Given the description of an element on the screen output the (x, y) to click on. 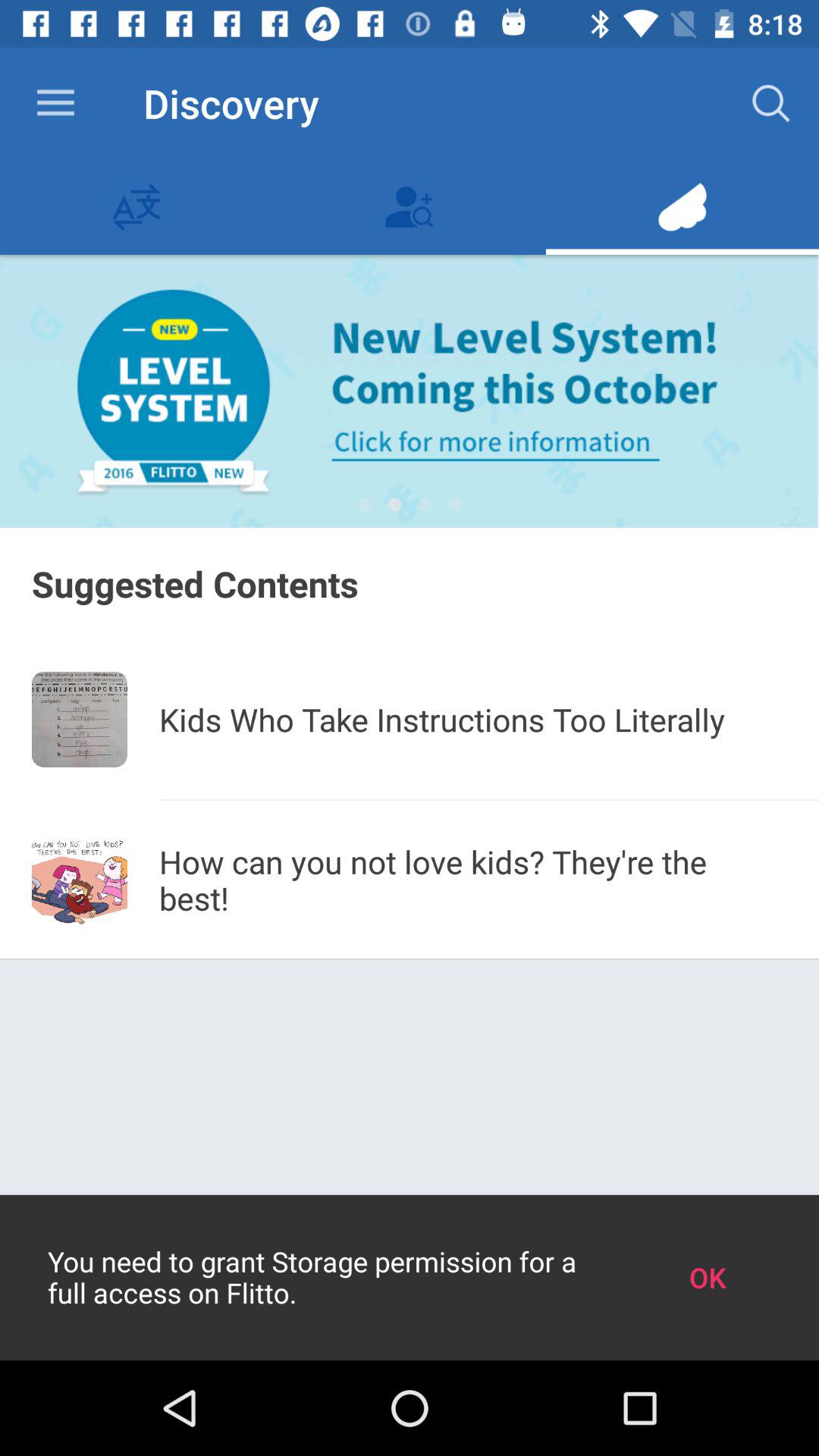
turn off item to the left of the discovery icon (55, 103)
